Given the description of an element on the screen output the (x, y) to click on. 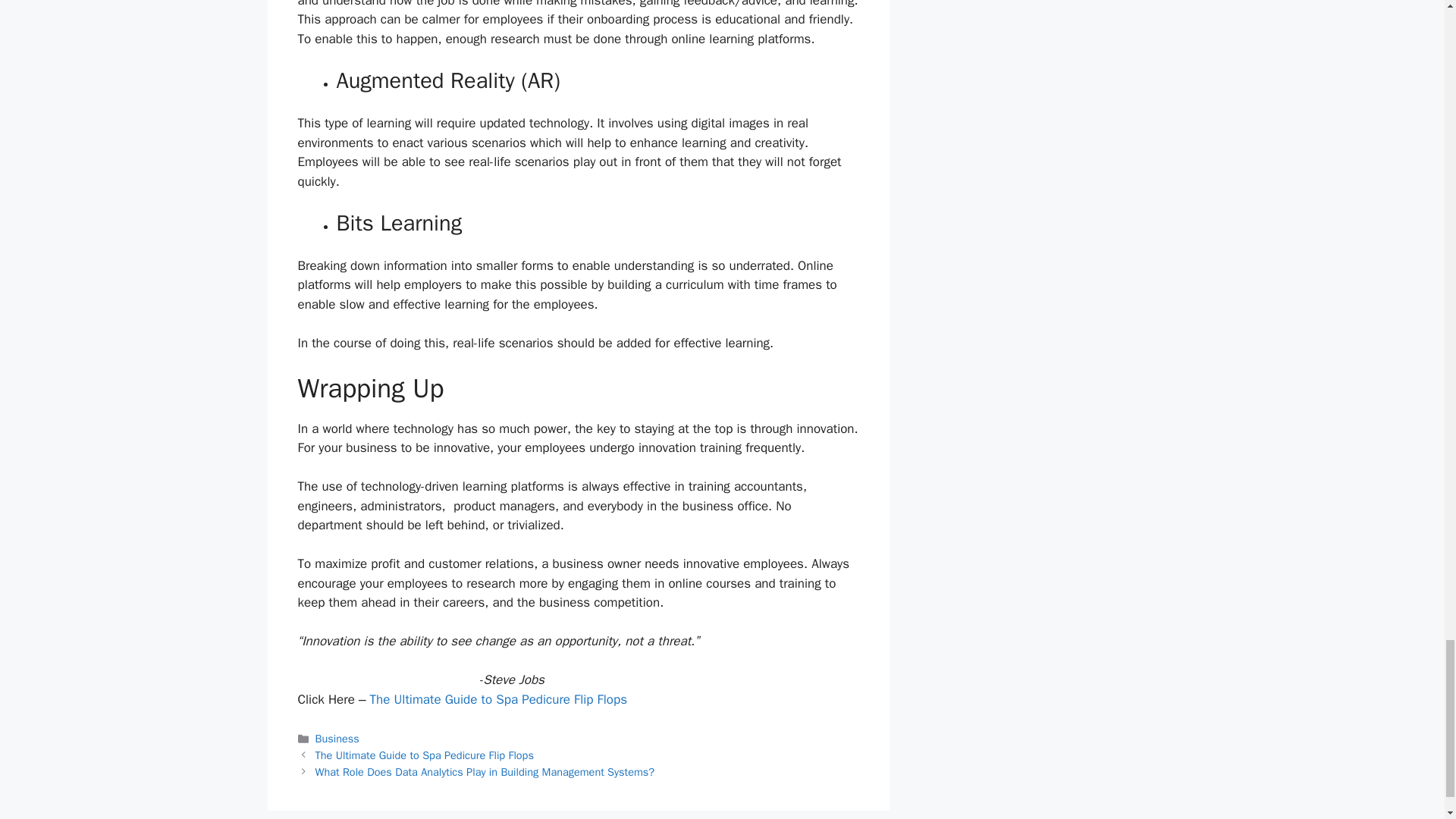
Business (337, 738)
The Ultimate Guide to Spa Pedicure Flip Flops (424, 755)
The Ultimate Guide to Spa Pedicure Flip Flops (498, 699)
